Given the description of an element on the screen output the (x, y) to click on. 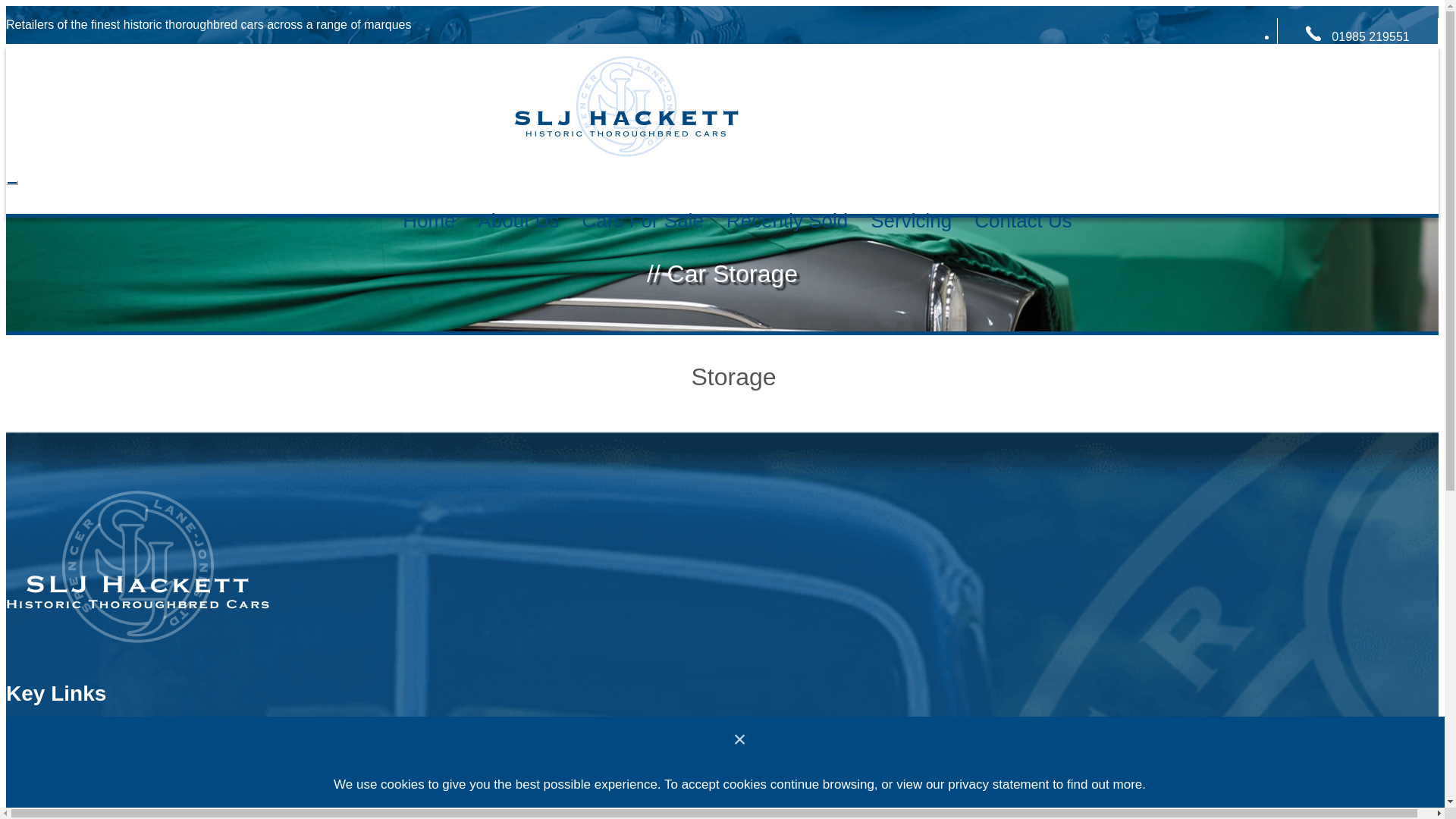
Recently Sold (786, 220)
Contact Us (1022, 220)
Servicing (910, 220)
01985 219551 (1370, 36)
Servicing (39, 783)
Home (428, 220)
Cars For Sale (642, 220)
Cars For Sale (57, 751)
privacy statement (997, 784)
Storage (34, 812)
About Us (518, 220)
